Given the description of an element on the screen output the (x, y) to click on. 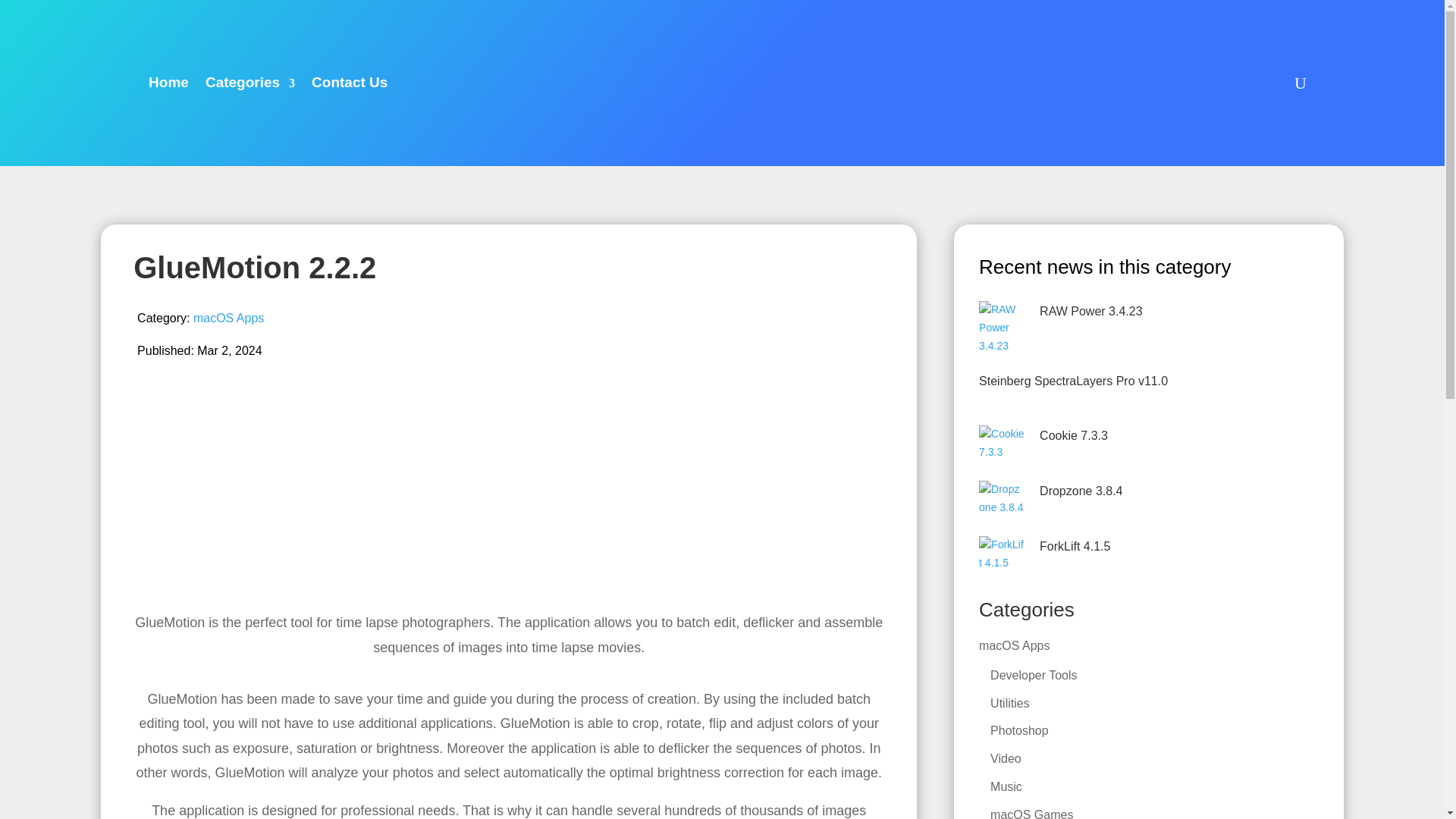
Cookie 7.3.3 (1073, 435)
Dropzone 3.8.4 (1080, 490)
Contact Us (349, 83)
Categories (250, 83)
Photoshop (1019, 730)
Steinberg SpectraLayers Pro v11.0 (1072, 380)
Utilities (1009, 702)
Video (1006, 758)
Music (1006, 786)
macOS Apps (228, 318)
macOS Games (1031, 813)
Developer Tools (1033, 675)
ForkLift 4.1.5 (1074, 545)
macOS Apps (1013, 645)
RAW Power 3.4.23 (1090, 310)
